Given the description of an element on the screen output the (x, y) to click on. 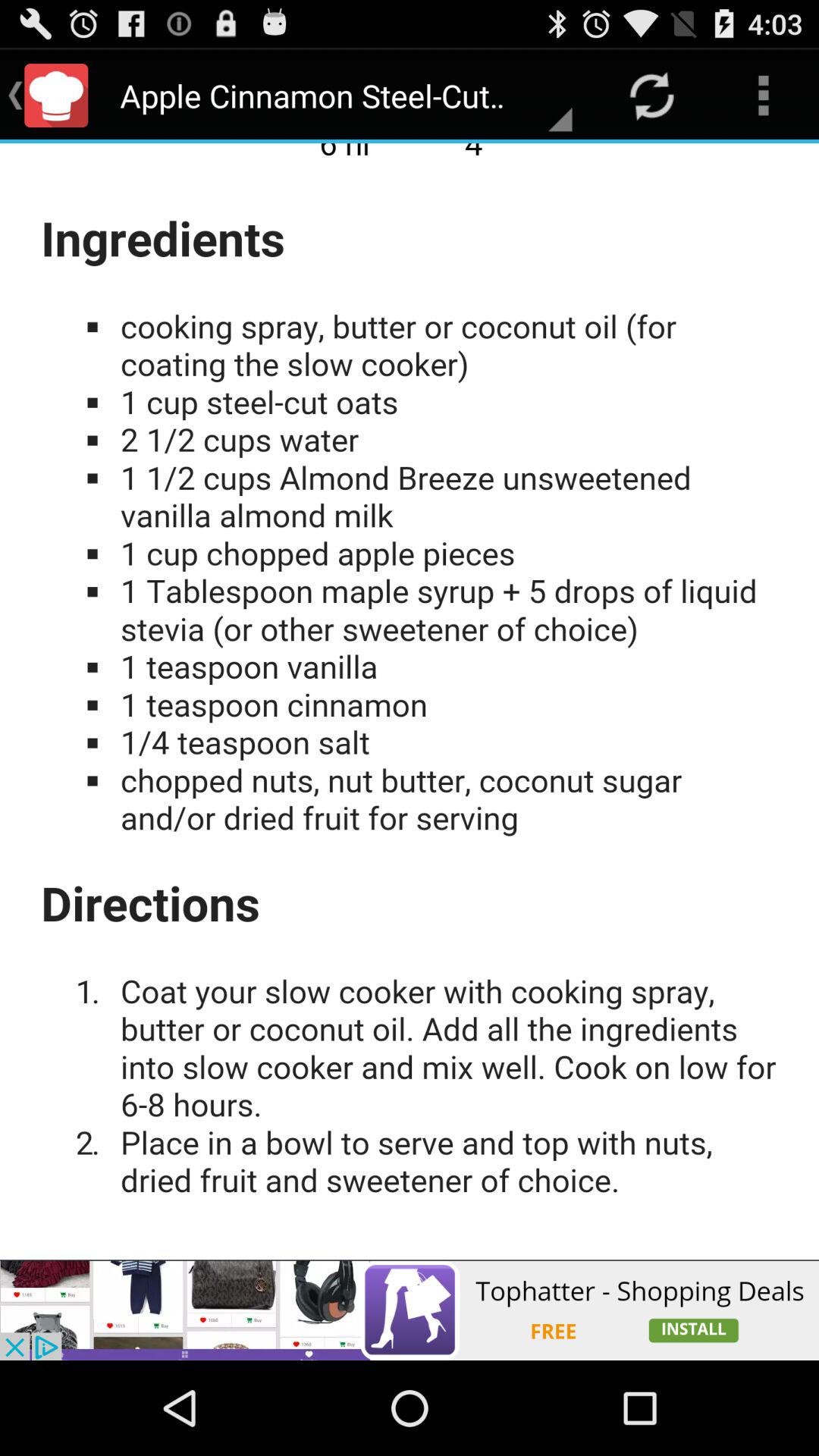
share the article (409, 1310)
